Given the description of an element on the screen output the (x, y) to click on. 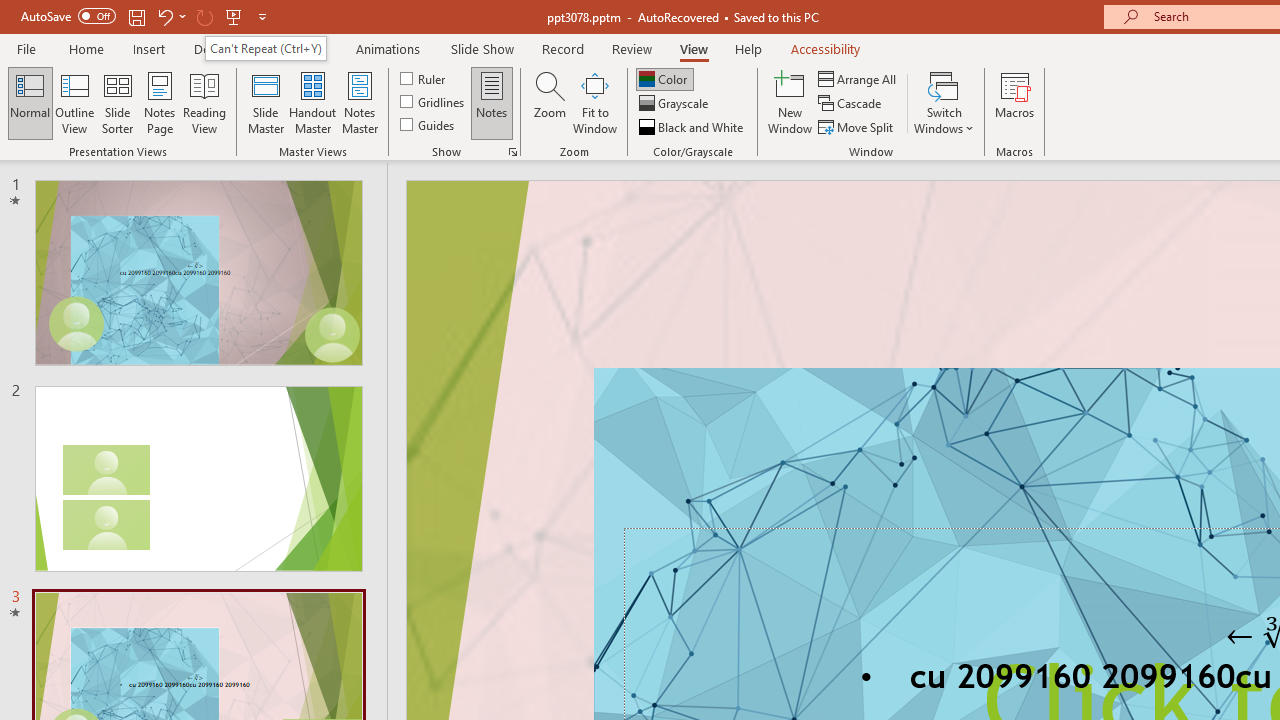
Fit to Window (594, 102)
Black and White (693, 126)
Slide Master (265, 102)
Outline View (74, 102)
Guides (428, 124)
Can't Repeat (Ctrl+Y) (265, 48)
New Window (790, 102)
Ruler (423, 78)
